Given the description of an element on the screen output the (x, y) to click on. 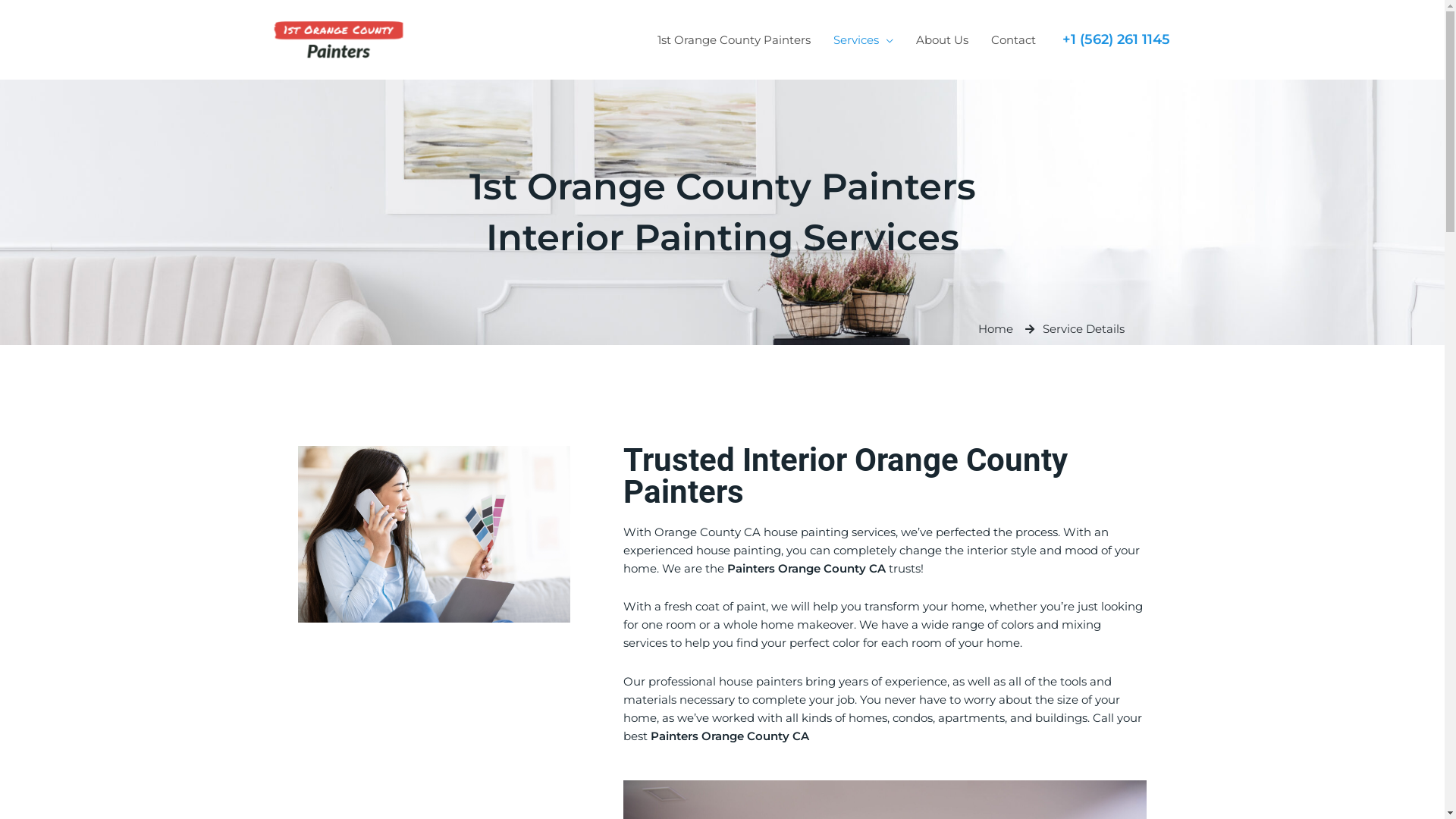
+1 (562) 261 1145 Element type: text (1115, 39)
Service Details Element type: text (1074, 329)
Contact Element type: text (1013, 39)
About Us Element type: text (941, 39)
Home Element type: text (995, 329)
1st Orange County Painters Element type: text (734, 39)
Services Element type: text (863, 39)
